Given the description of an element on the screen output the (x, y) to click on. 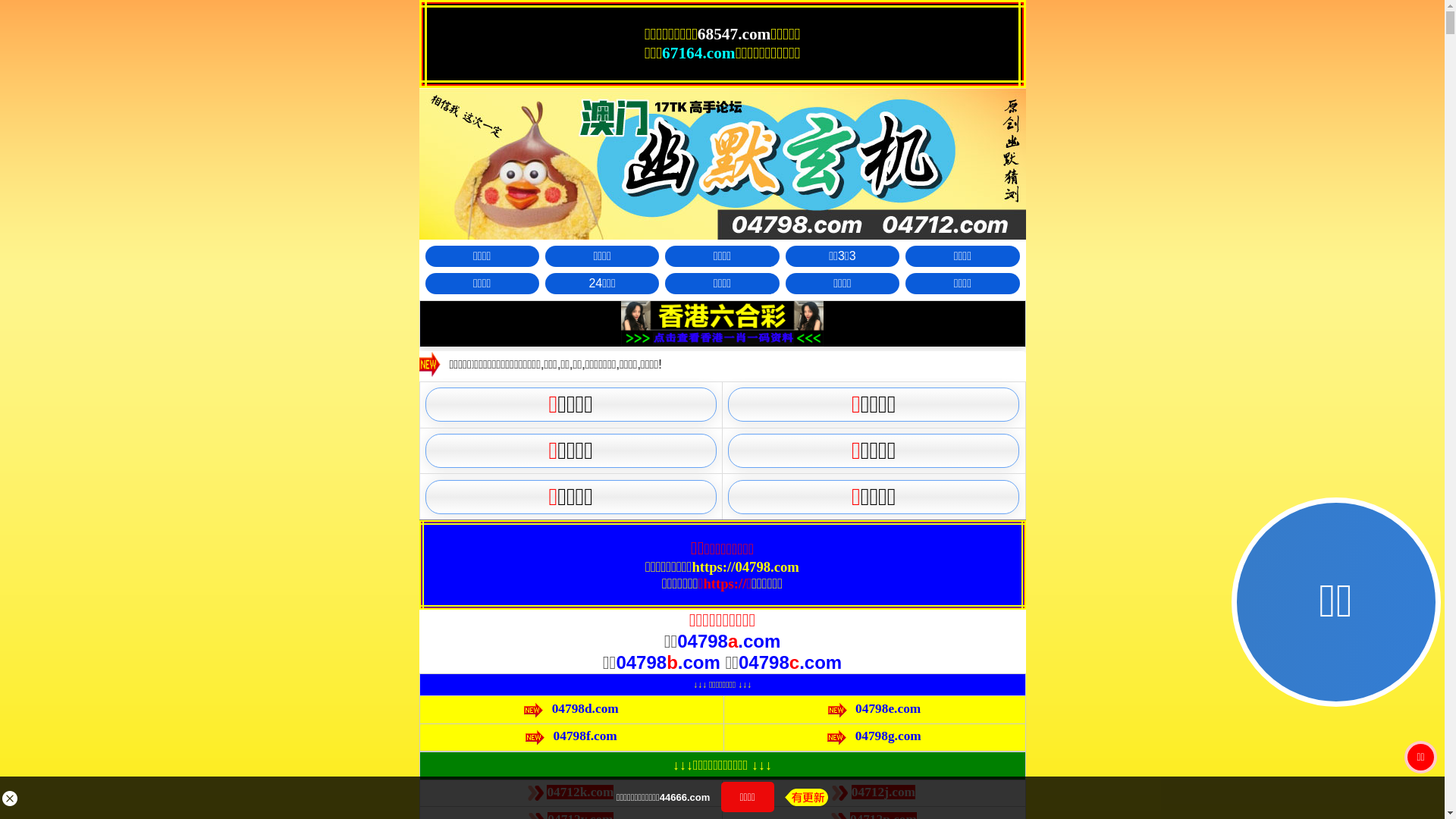
8i.cc Element type: text (657, 483)
1877.bet Element type: text (786, 513)
8898.cc Element type: text (657, 452)
8228.cc Element type: text (657, 543)
918.cc Element type: text (786, 543)
U7.cc Element type: text (657, 513)
2050.biz Element type: text (786, 483)
9797.cc Element type: text (786, 452)
